Given the description of an element on the screen output the (x, y) to click on. 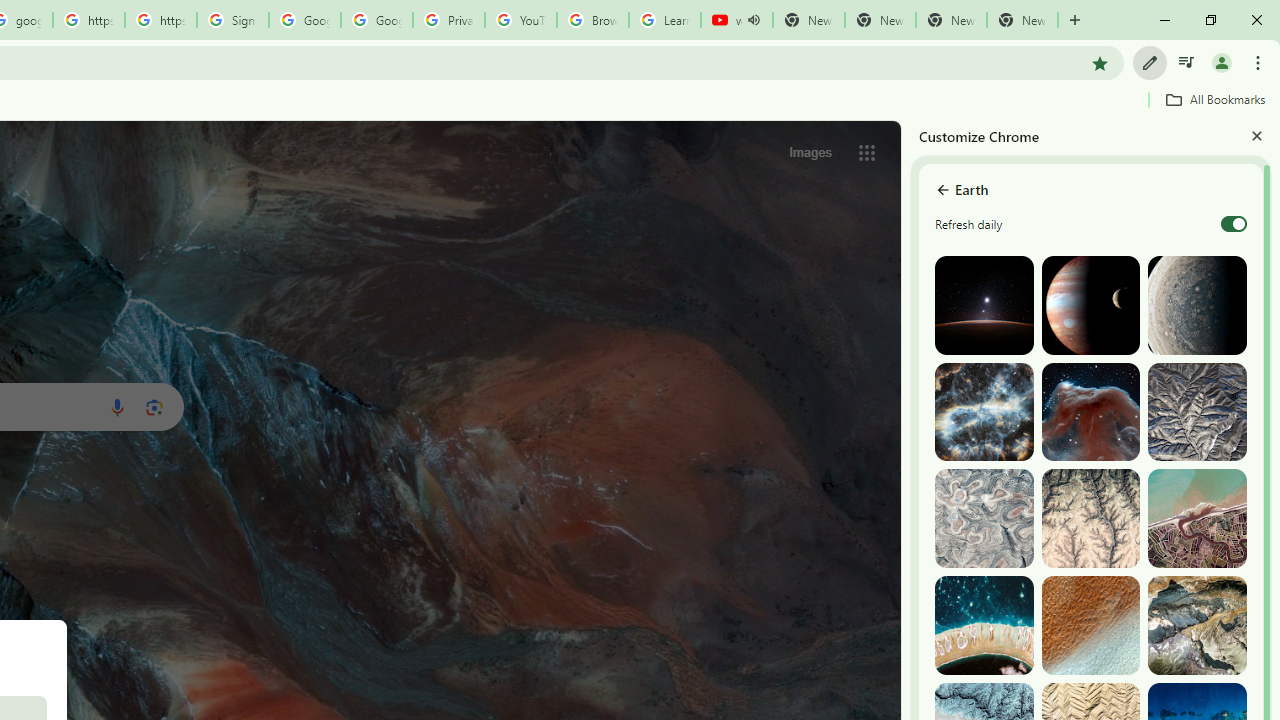
Trarza, Mauritania (1090, 625)
